Given the description of an element on the screen output the (x, y) to click on. 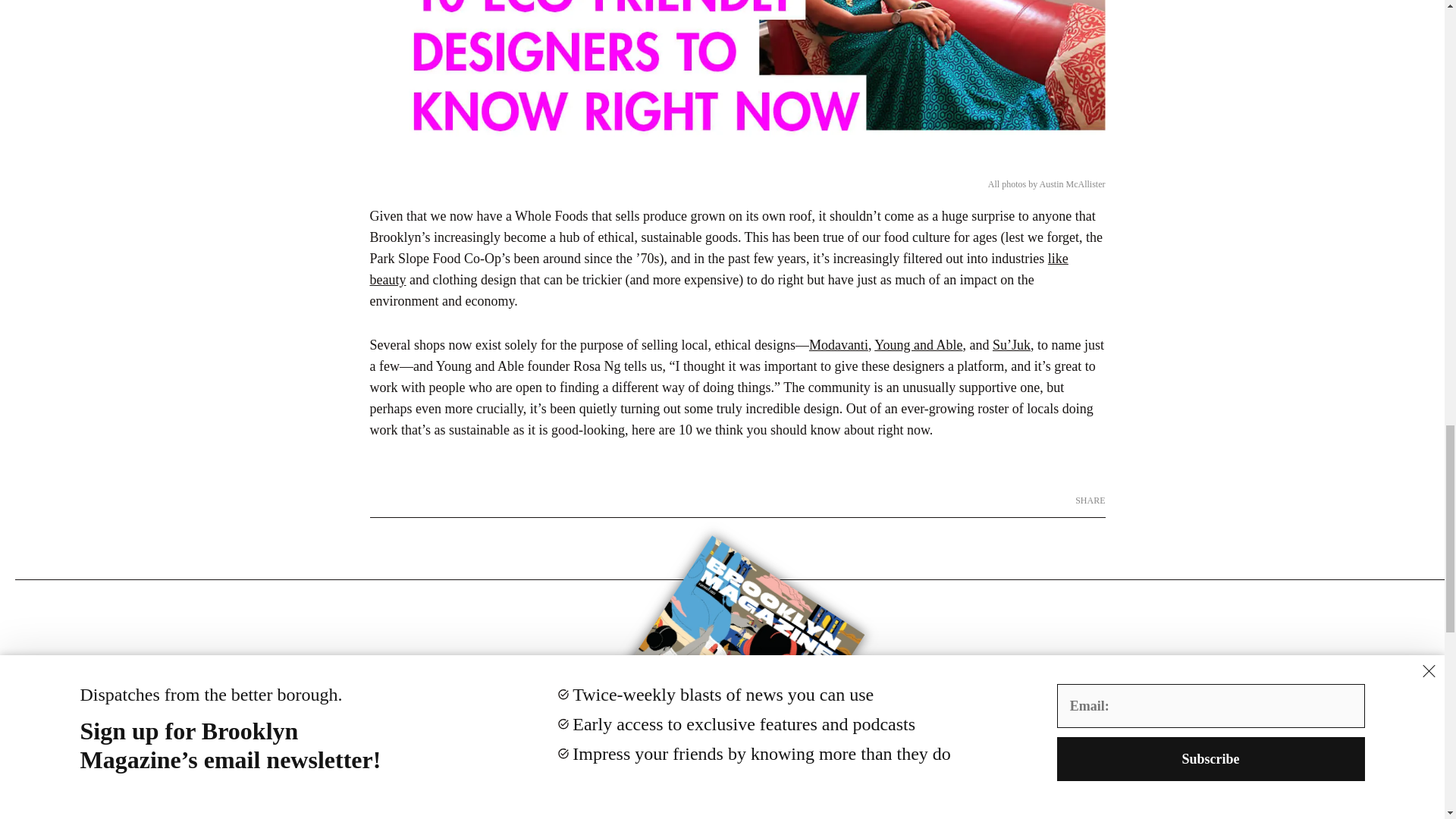
10 Eco-Friendly Designers to Know Right Now (737, 85)
